Given the description of an element on the screen output the (x, y) to click on. 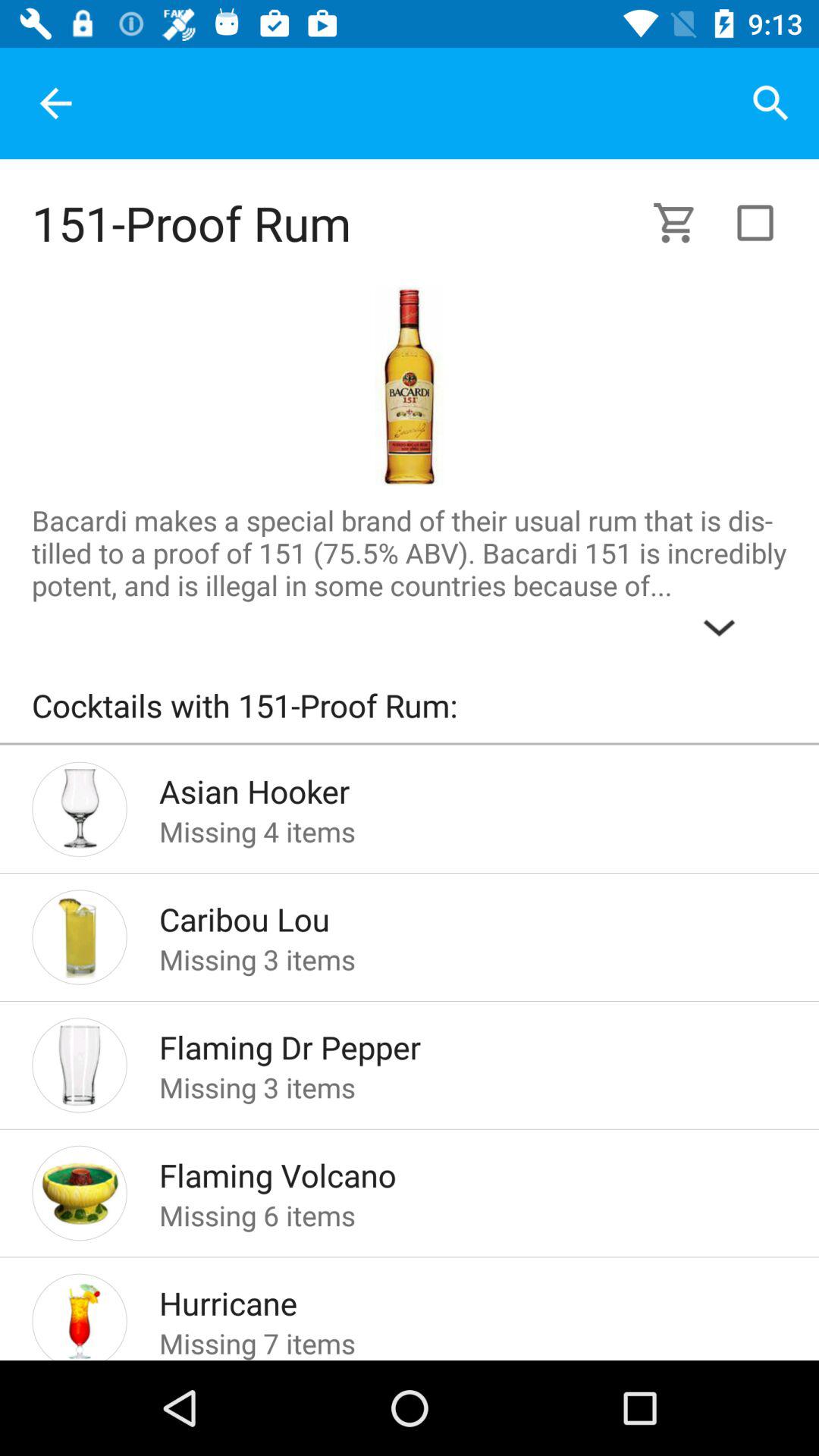
the picture of sample (409, 385)
